Given the description of an element on the screen output the (x, y) to click on. 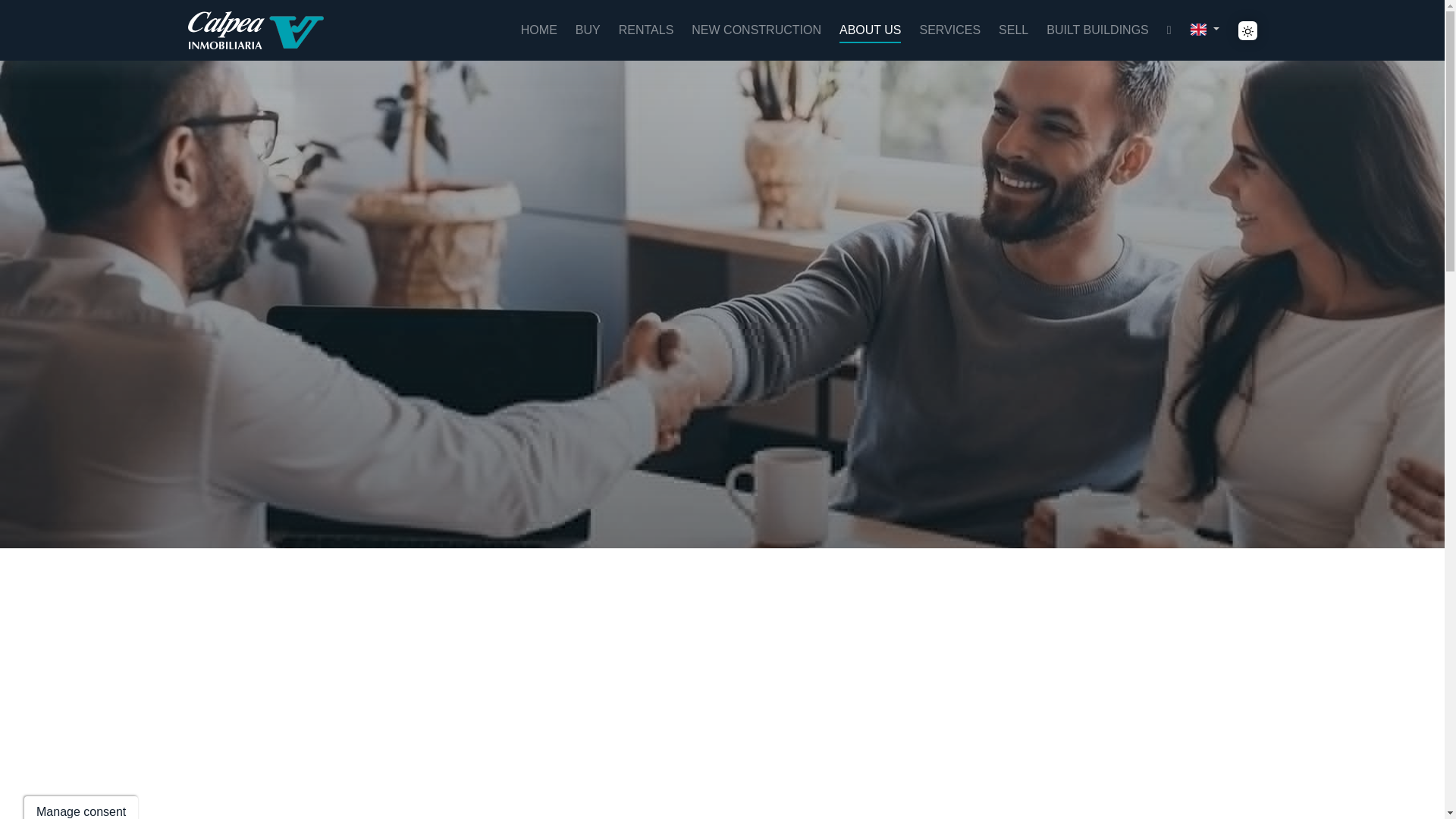
NEW CONSTRUCTION (756, 30)
BUILT BUILDINGS (1097, 30)
RENTALS (646, 30)
BUY (587, 30)
HOME (539, 30)
SELL (1012, 30)
ABOUT US (870, 30)
SERVICES (948, 30)
